Given the description of an element on the screen output the (x, y) to click on. 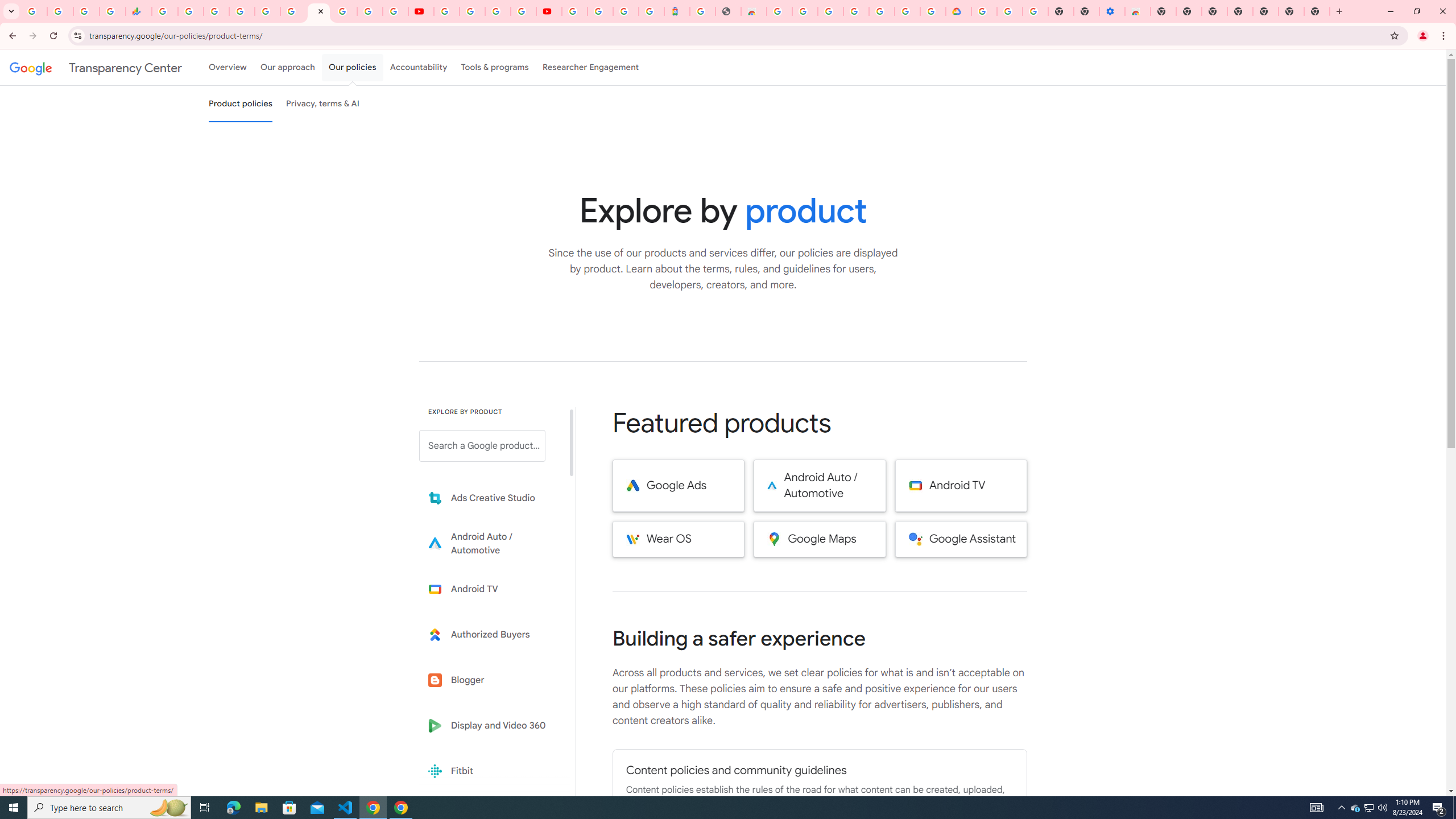
Google Assistant (960, 538)
Sign in - Google Accounts (600, 11)
Transparency Center (95, 67)
Google Account Help (1009, 11)
New Tab (1316, 11)
Product policies (239, 103)
New Tab (1265, 11)
Learn more about Authorized Buyers (490, 634)
Fitbit (490, 770)
